Given the description of an element on the screen output the (x, y) to click on. 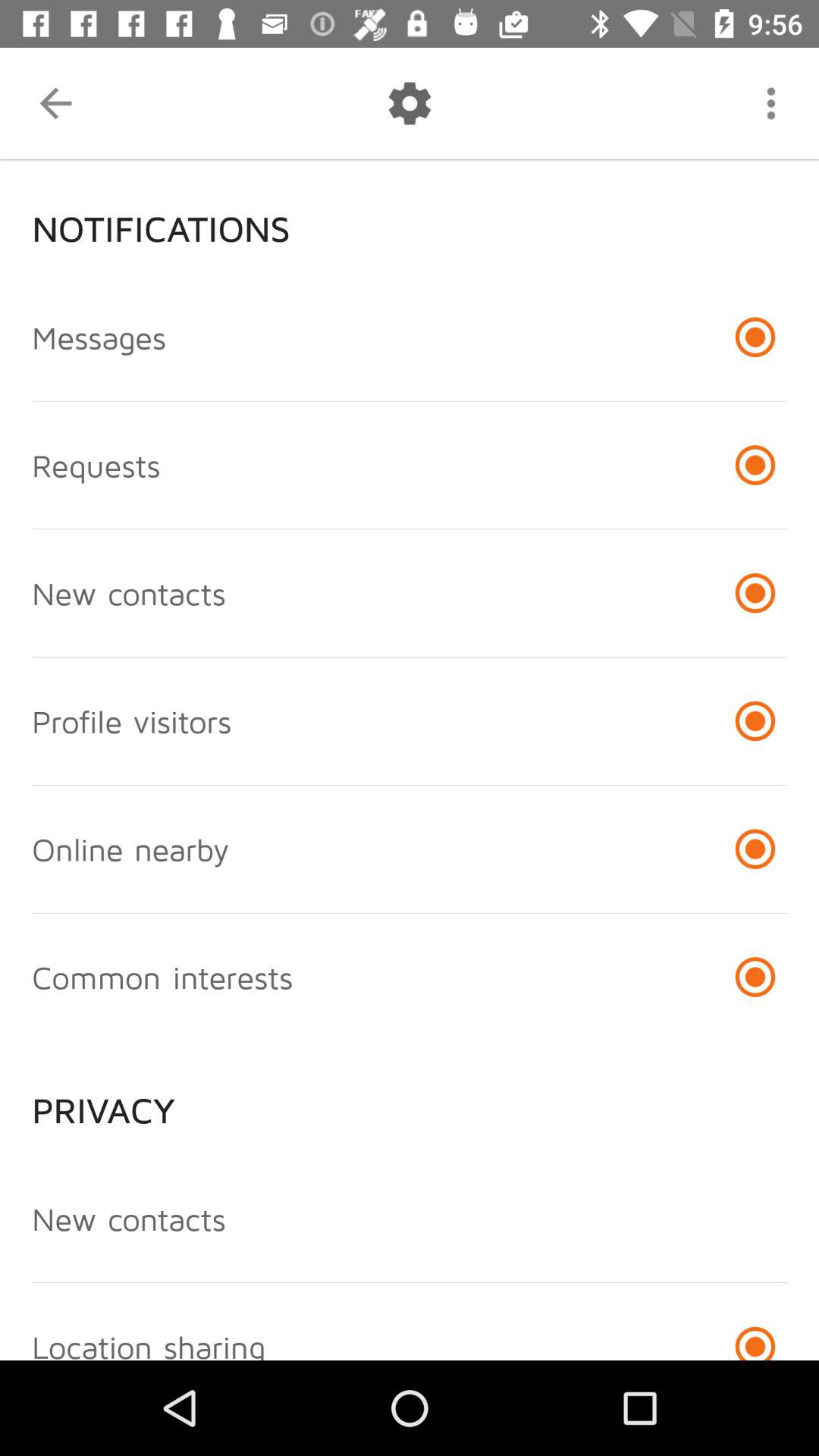
turn off the requests (95, 464)
